Given the description of an element on the screen output the (x, y) to click on. 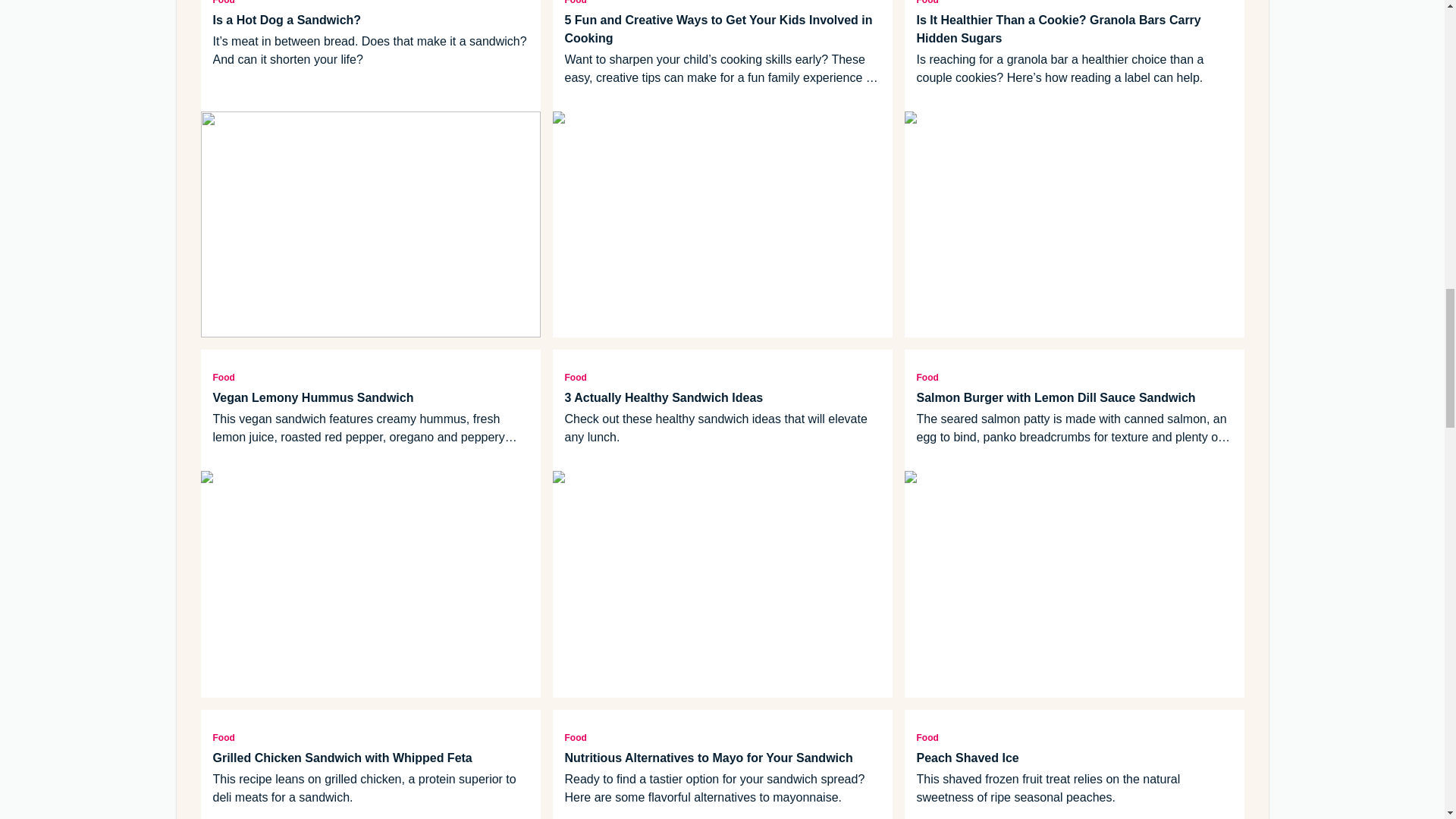
Food (369, 4)
